Given the description of an element on the screen output the (x, y) to click on. 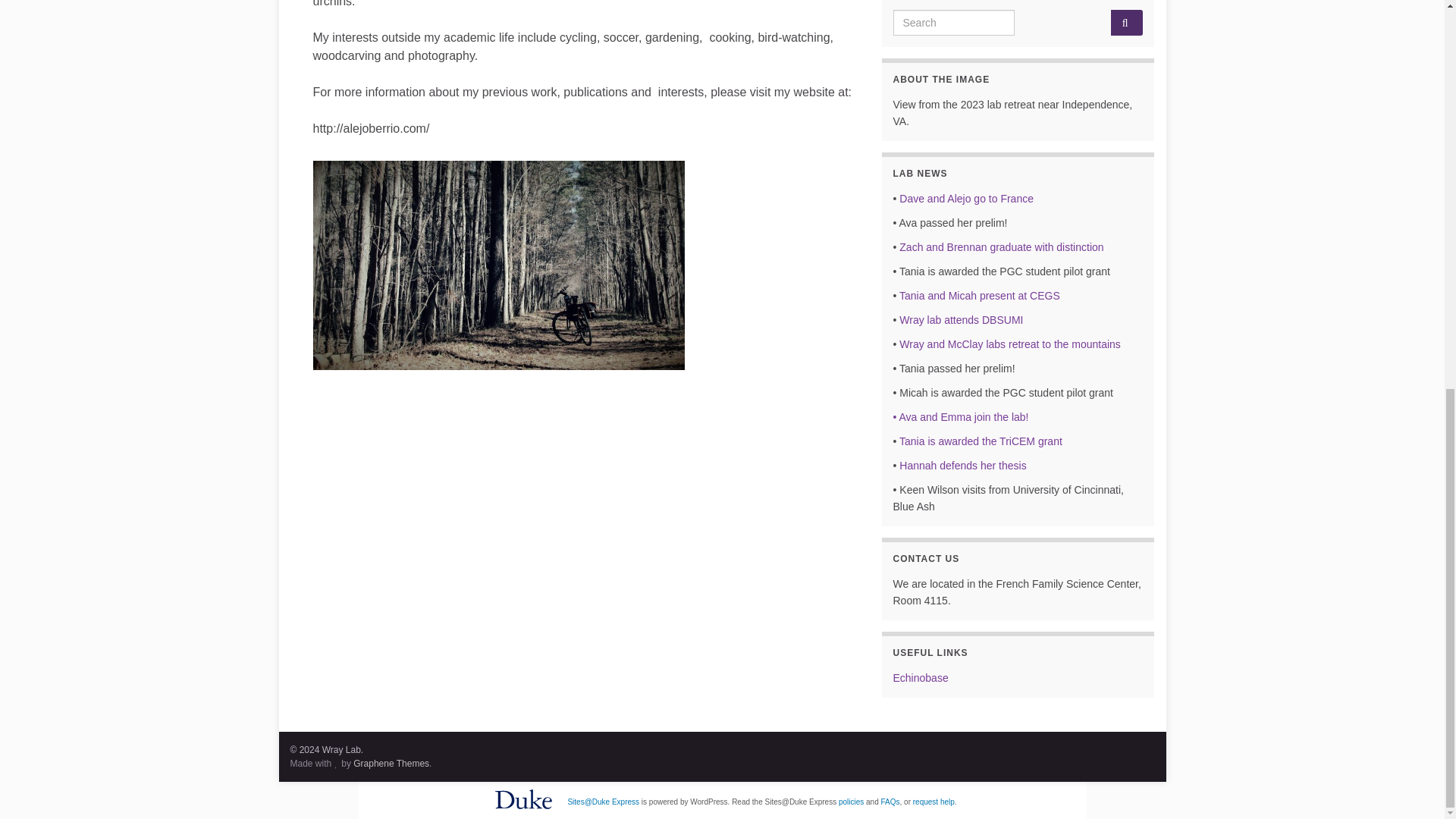
Visit Duke.edu (523, 798)
Wray and McClay labs retreat to the mountains (1010, 344)
Wray lab attends DBSUMI (961, 319)
Graphene Themes (391, 763)
Tania and Micah present at CEGS (979, 295)
policies (850, 801)
Echinobase (921, 677)
FAQs (889, 801)
Zach and Brennan graduate with distinction (999, 246)
Hannah defends her thesis (962, 465)
Dave and Alejo go to France (964, 198)
Tania is awarded the TriCEM grant (980, 440)
